Given the description of an element on the screen output the (x, y) to click on. 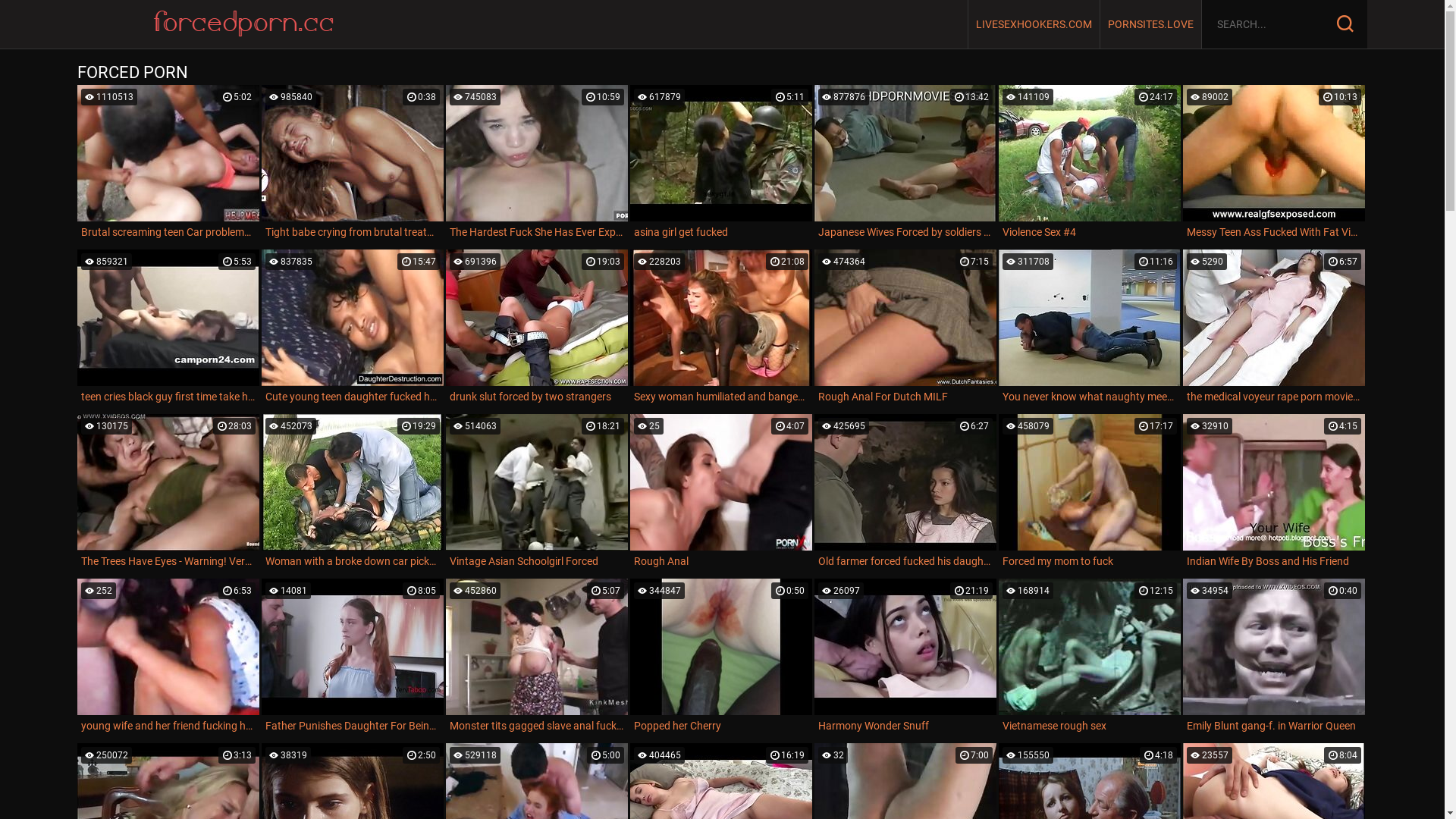
0:40
34954
Emily Blunt gang-f. in Warrior Queen Element type: text (1274, 657)
18:21
514063
Vintage Asian Schoolgirl Forced Element type: text (536, 493)
15:47
837835
Cute young teen daughter fucked hard Element type: text (352, 328)
0:38
985840
Tight babe crying from brutal treatment Element type: text (352, 163)
4:15
32910
Indian Wife By Boss and His Friend Element type: text (1274, 493)
LIVESEXHOOKERS.COM Element type: text (1034, 24)
12:15
168914
Vietnamese rough sex Element type: text (1089, 657)
21:19
26097
Harmony Wonder Snuff Element type: text (905, 657)
6:27
425695
Old farmer forced fucked his daughter Element type: text (905, 493)
PORNSITES.LOVE Element type: text (1150, 24)
19:03
691396
drunk slut forced by two strangers Element type: text (536, 328)
5:07
452860
Monster tits gagged slave anal fucked Element type: text (536, 657)
4:07
25
Rough Anal Element type: text (721, 493)
17:17
458079
Forced my mom to fuck Element type: text (1089, 493)
5:11
617879
asina girl get fucked Element type: text (721, 163)
24:17
141109
Violence Sex #4 Element type: text (1089, 163)
10:13
89002
Messy Teen Ass Fucked With Fat Vibe Element type: text (1274, 163)
0:50
344847
Popped her Cherry Element type: text (721, 657)
7:15
474364
Rough Anal For Dutch MILF Element type: text (905, 328)
